Given the description of an element on the screen output the (x, y) to click on. 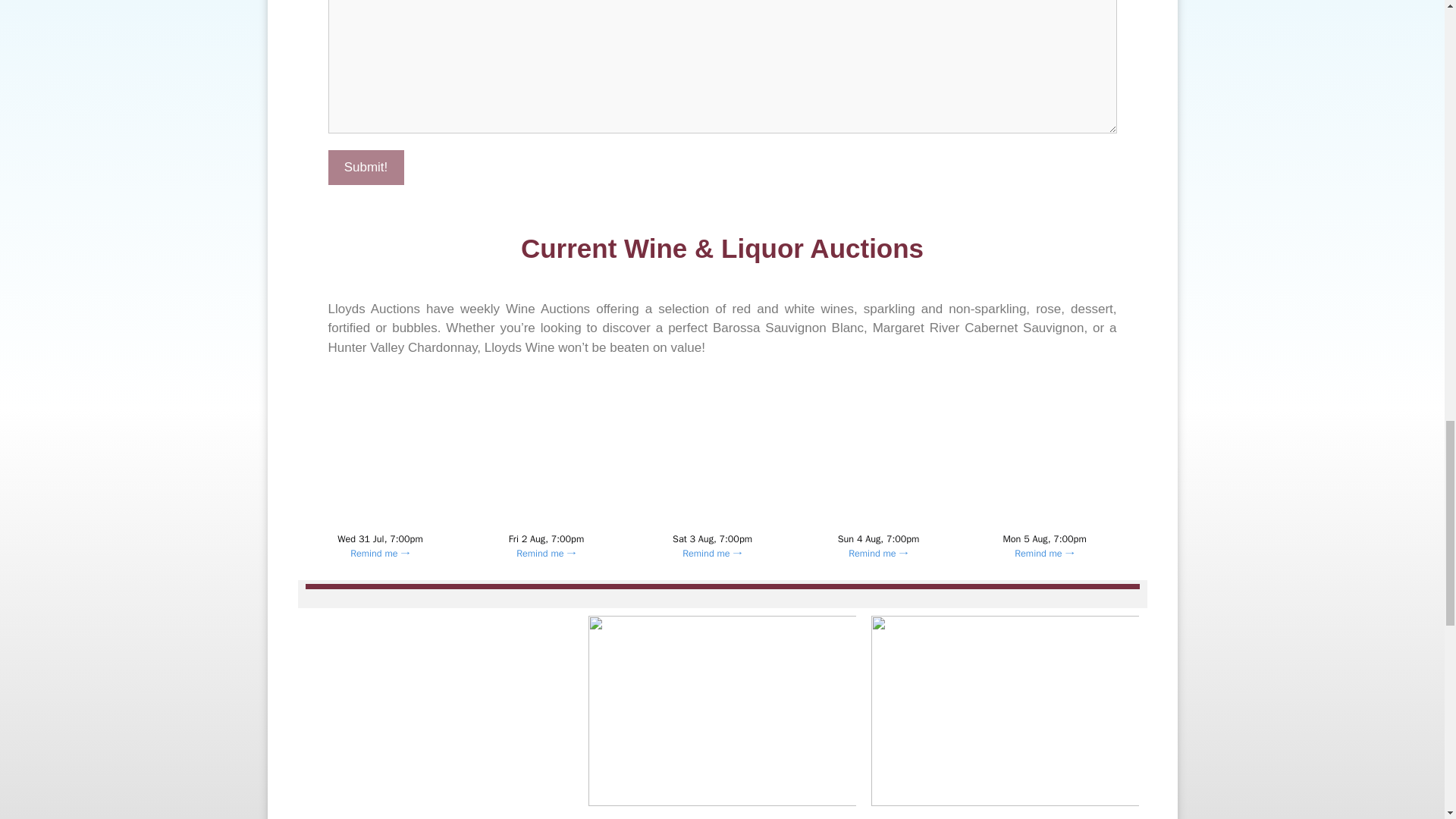
Wine Time (546, 475)
Submit! (365, 167)
Wines Down Under (1045, 475)
Top Shelf Collectable Liquor Showcase (713, 475)
